Given the description of an element on the screen output the (x, y) to click on. 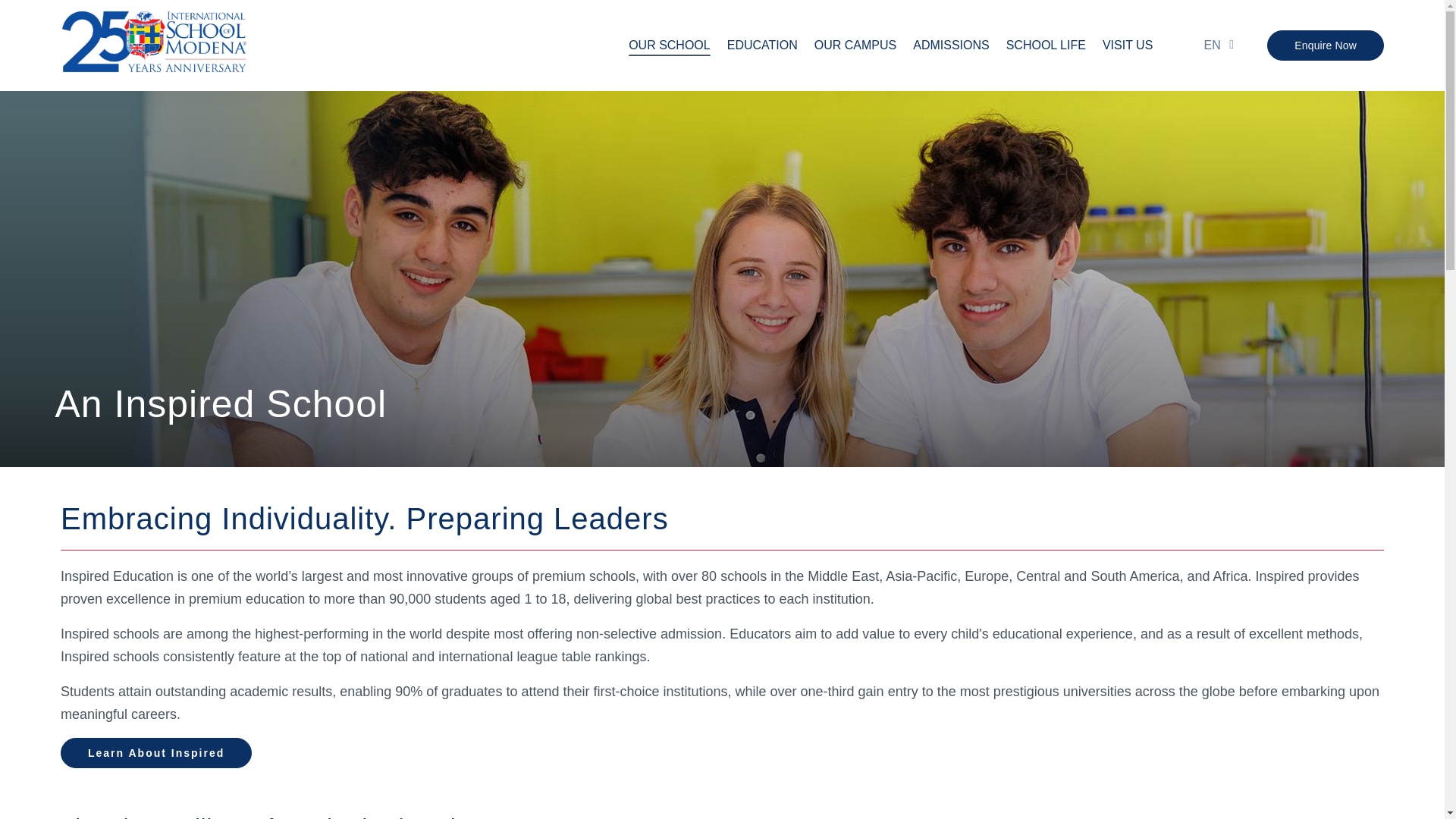
ADMISSIONS (950, 45)
Skip to main content (721, 1)
Enquire Now (1325, 45)
OUR CAMPUS (854, 45)
VISIT US (1127, 45)
International School of Modena (154, 45)
SCHOOL LIFE (1046, 45)
EDUCATION (761, 45)
OUR SCHOOL (669, 45)
EN (1213, 45)
